Given the description of an element on the screen output the (x, y) to click on. 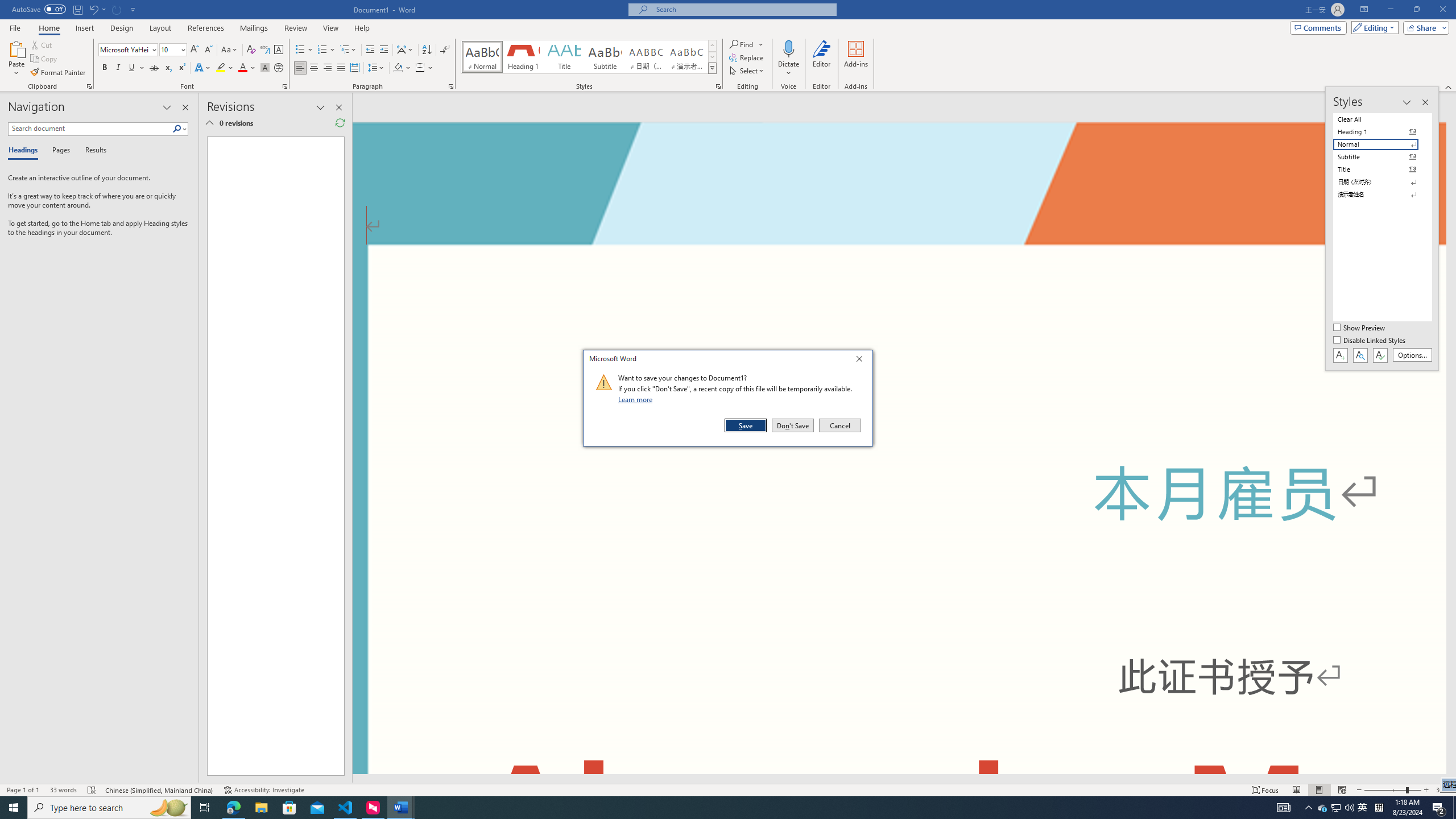
Visual Studio Code - 1 running window (345, 807)
Headings (25, 150)
Asian Layout (405, 49)
Show desktop (1454, 807)
Focus  (1265, 790)
Help (361, 28)
Shading (1322, 807)
Open (402, 67)
Search (182, 49)
Search highlights icon opens search home window (177, 128)
Close pane (167, 807)
Quick Access Toolbar (185, 107)
Tray Input Indicator - Chinese (Simplified, China) (74, 9)
Customize Quick Access Toolbar (1378, 807)
